Given the description of an element on the screen output the (x, y) to click on. 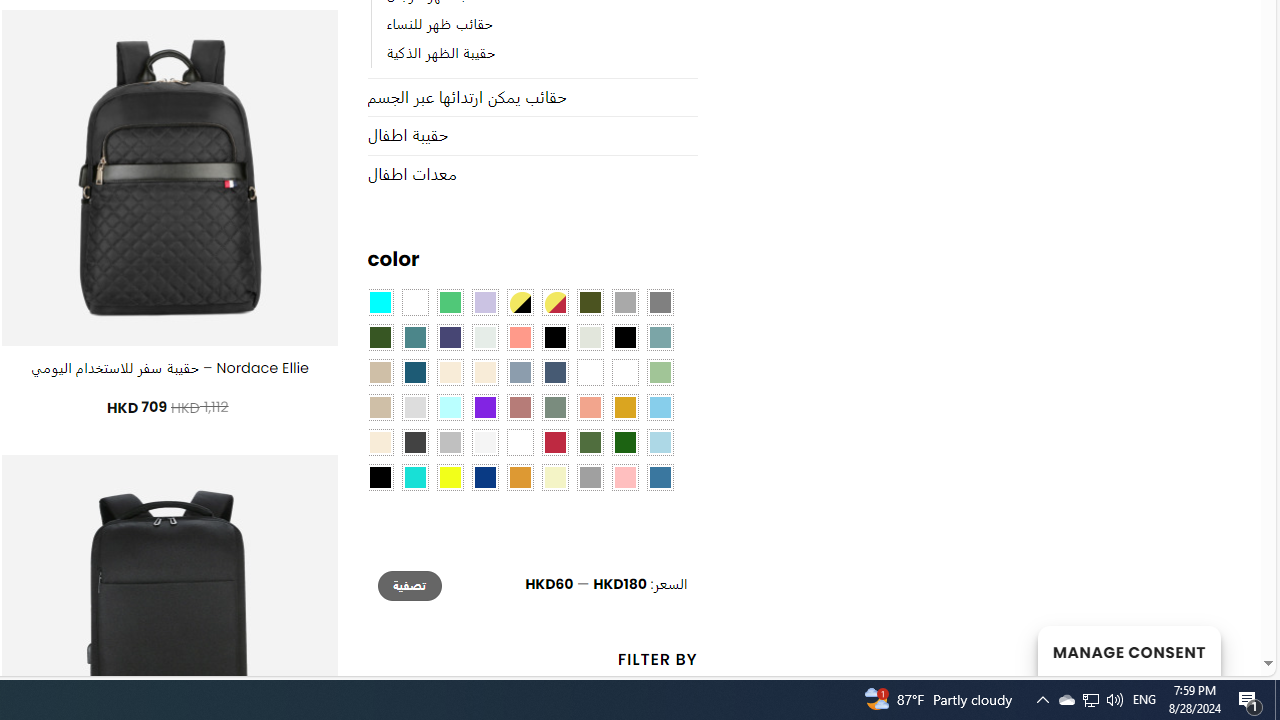
Dull Nickle (484, 337)
Forest (379, 337)
MANAGE CONSENT (1128, 650)
Capri Blue (414, 372)
Emerald Green (449, 303)
Light Green (659, 372)
Light-Gray (414, 408)
